Given the description of an element on the screen output the (x, y) to click on. 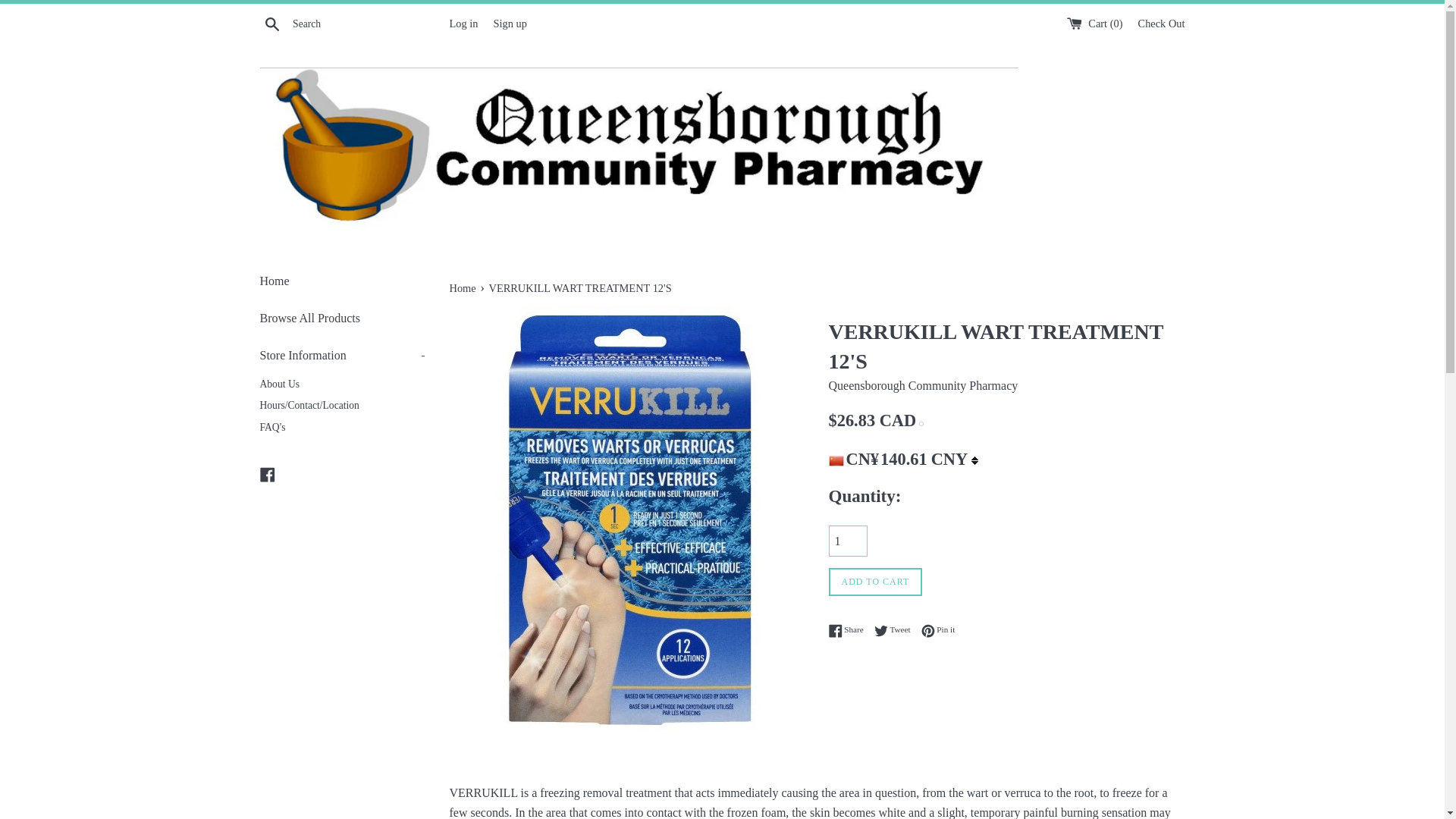
Sign up (510, 22)
Tweet on Twitter (896, 630)
FAQ's (342, 427)
Log in (342, 354)
Search (462, 22)
Back to the frontpage (938, 630)
Browse All Products (271, 22)
About Us (896, 630)
Share on Facebook (463, 287)
Home (342, 318)
Queensborough Community Pharmacy on Facebook (342, 383)
Facebook (849, 630)
